Given the description of an element on the screen output the (x, y) to click on. 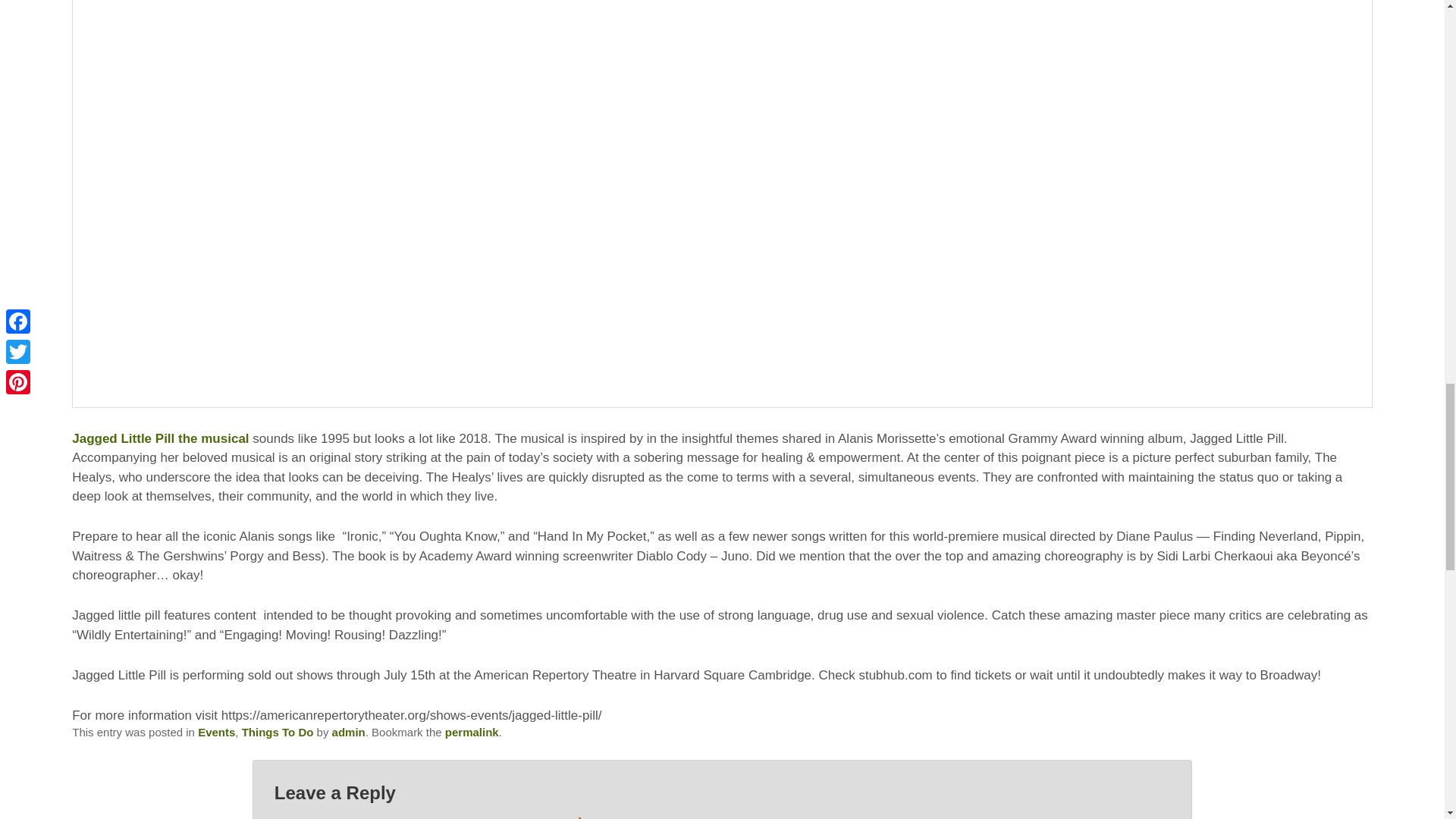
Permalink to Jagged Little Pill the Musical (472, 731)
